Given the description of an element on the screen output the (x, y) to click on. 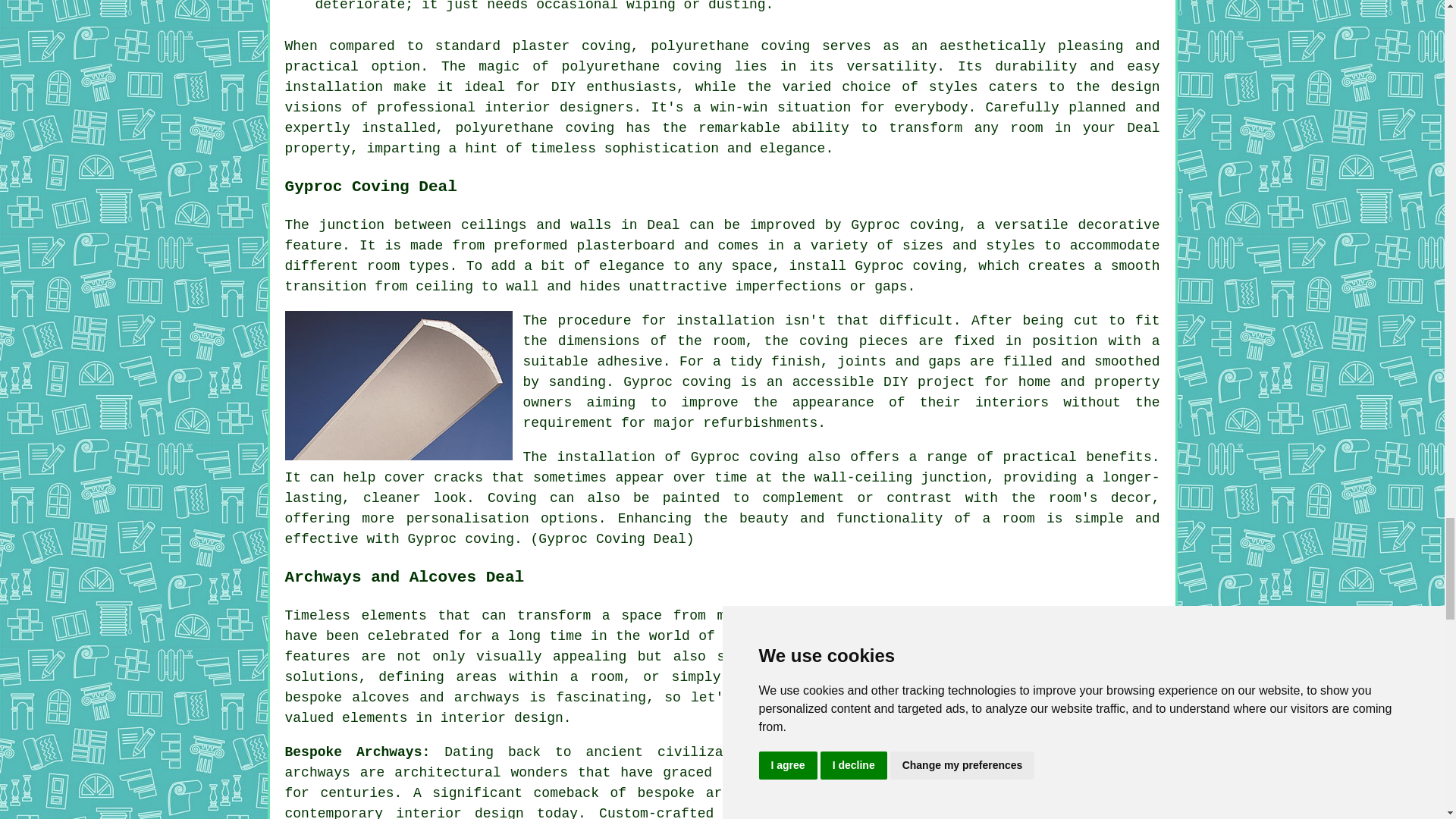
plaster coving (571, 46)
Gyproc Coving Deal (398, 385)
coving (936, 265)
